Given the description of an element on the screen output the (x, y) to click on. 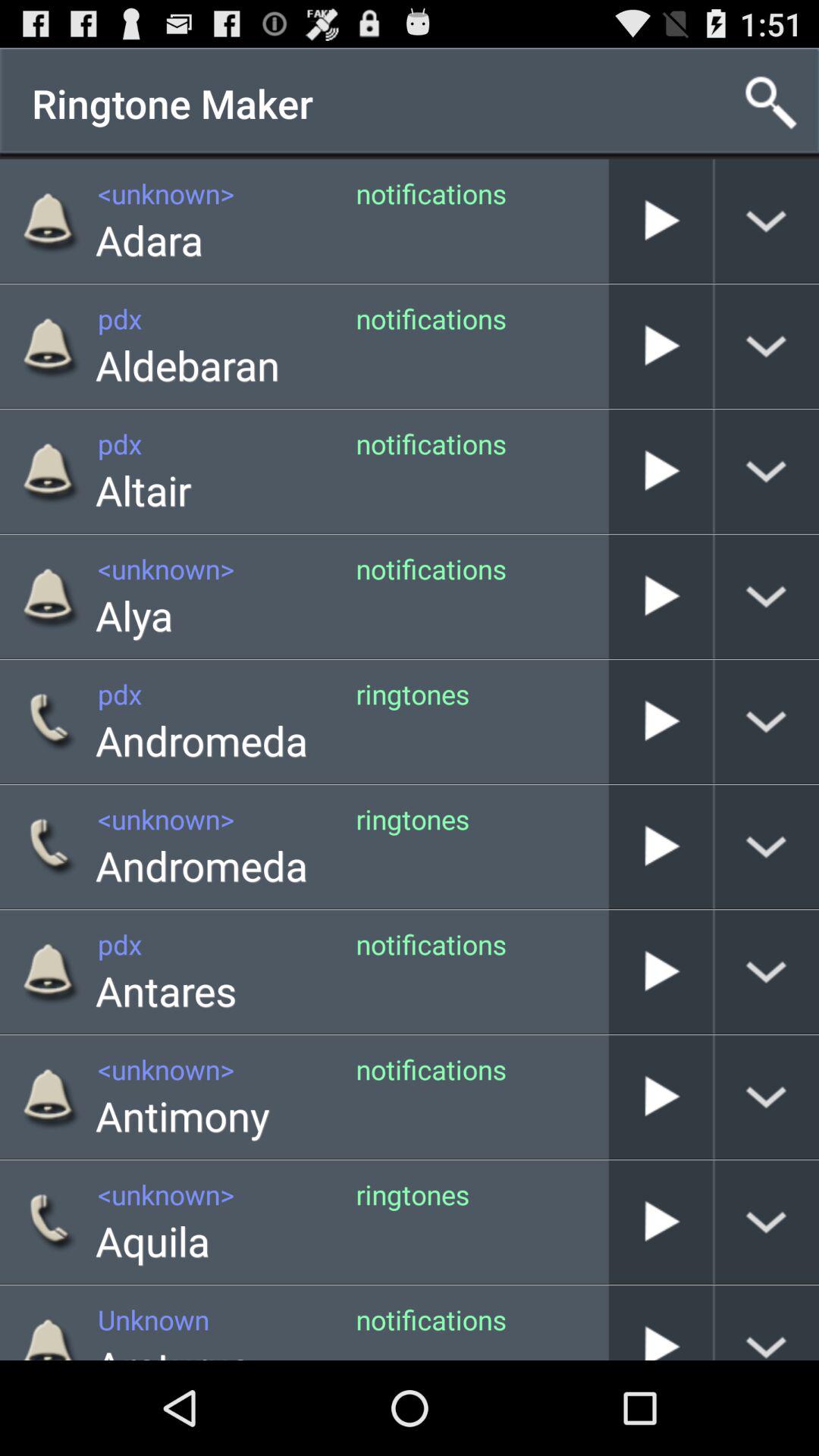
see more information (767, 846)
